Given the description of an element on the screen output the (x, y) to click on. 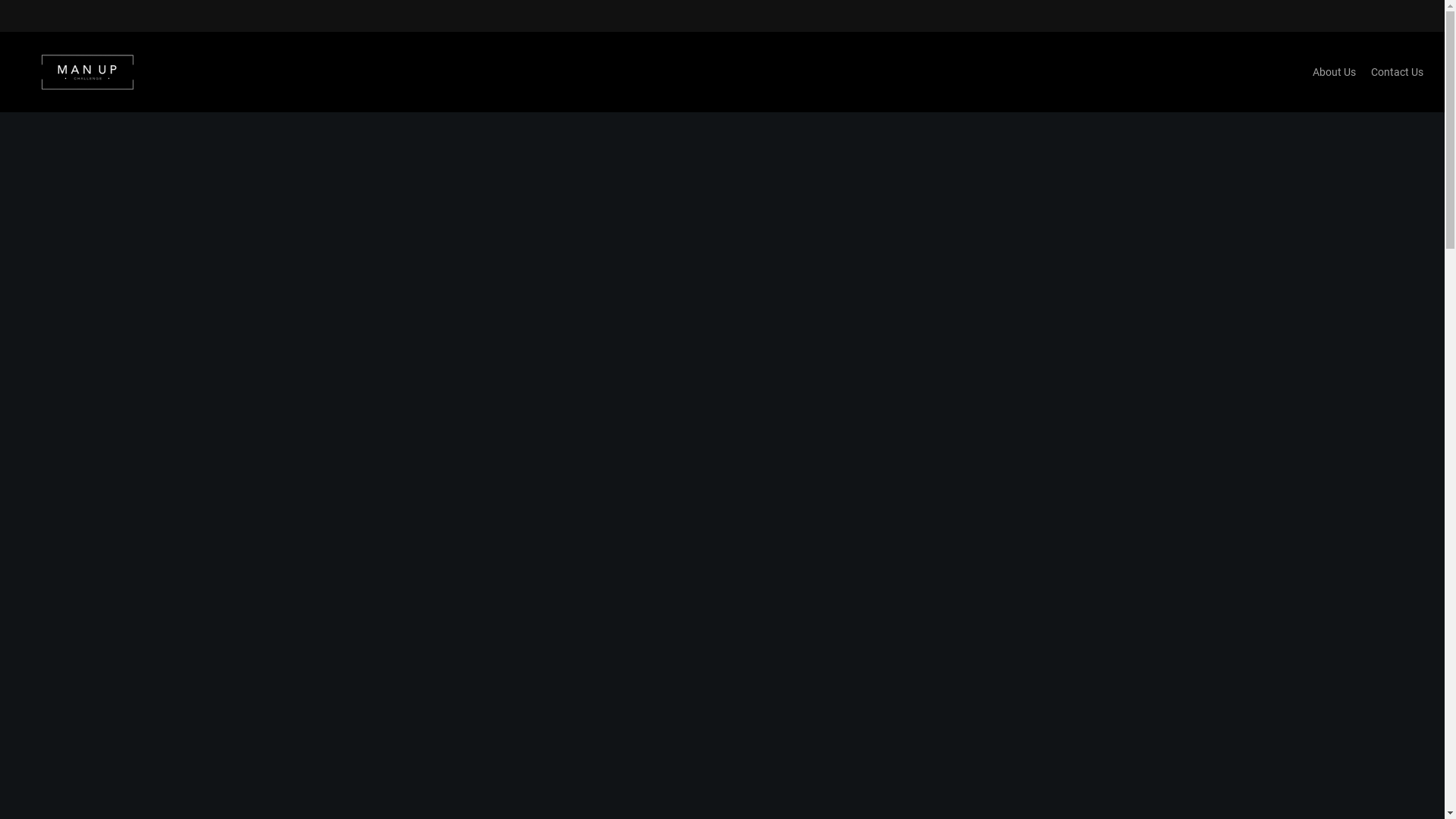
Contact Us Element type: text (1397, 71)
About Us Element type: text (1333, 71)
Facebook Element type: text (705, 707)
Mail Element type: text (737, 708)
